Given the description of an element on the screen output the (x, y) to click on. 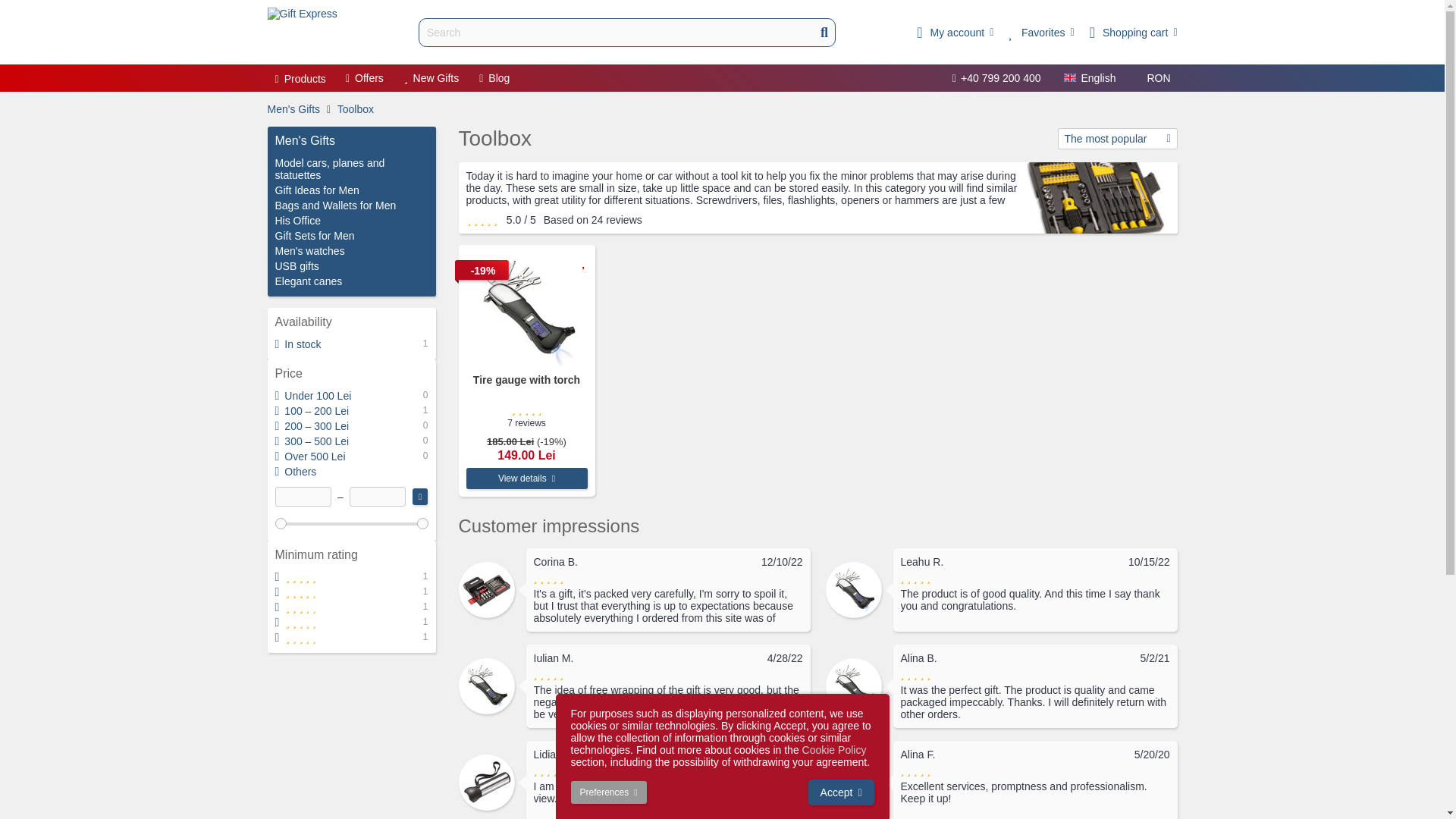
0 (351, 521)
Gift Express (301, 31)
Tire gauge with torch (525, 309)
My account (954, 31)
Favorites (1041, 31)
Products (299, 79)
Shopping cart (1133, 31)
100 (351, 521)
